Given the description of an element on the screen output the (x, y) to click on. 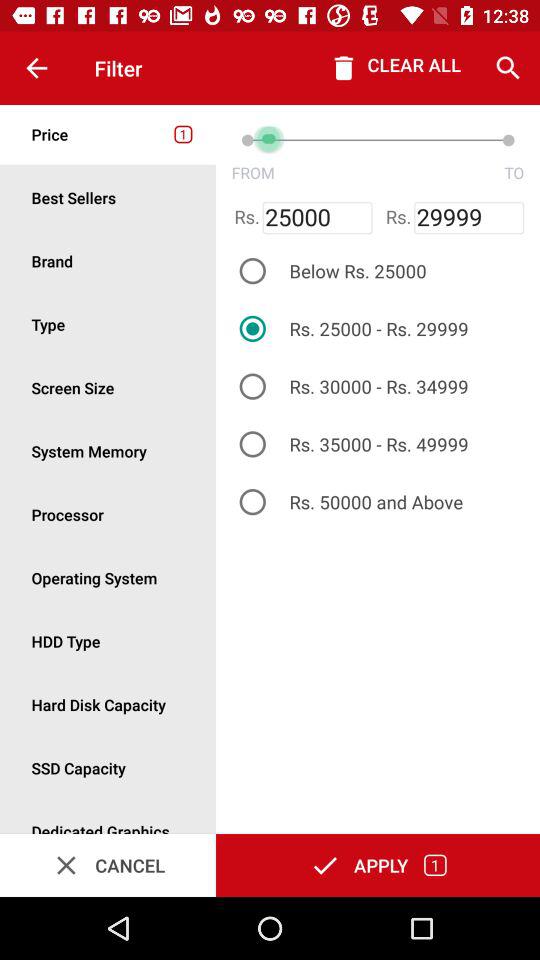
launch the item next to the clear all item (508, 67)
